Given the description of an element on the screen output the (x, y) to click on. 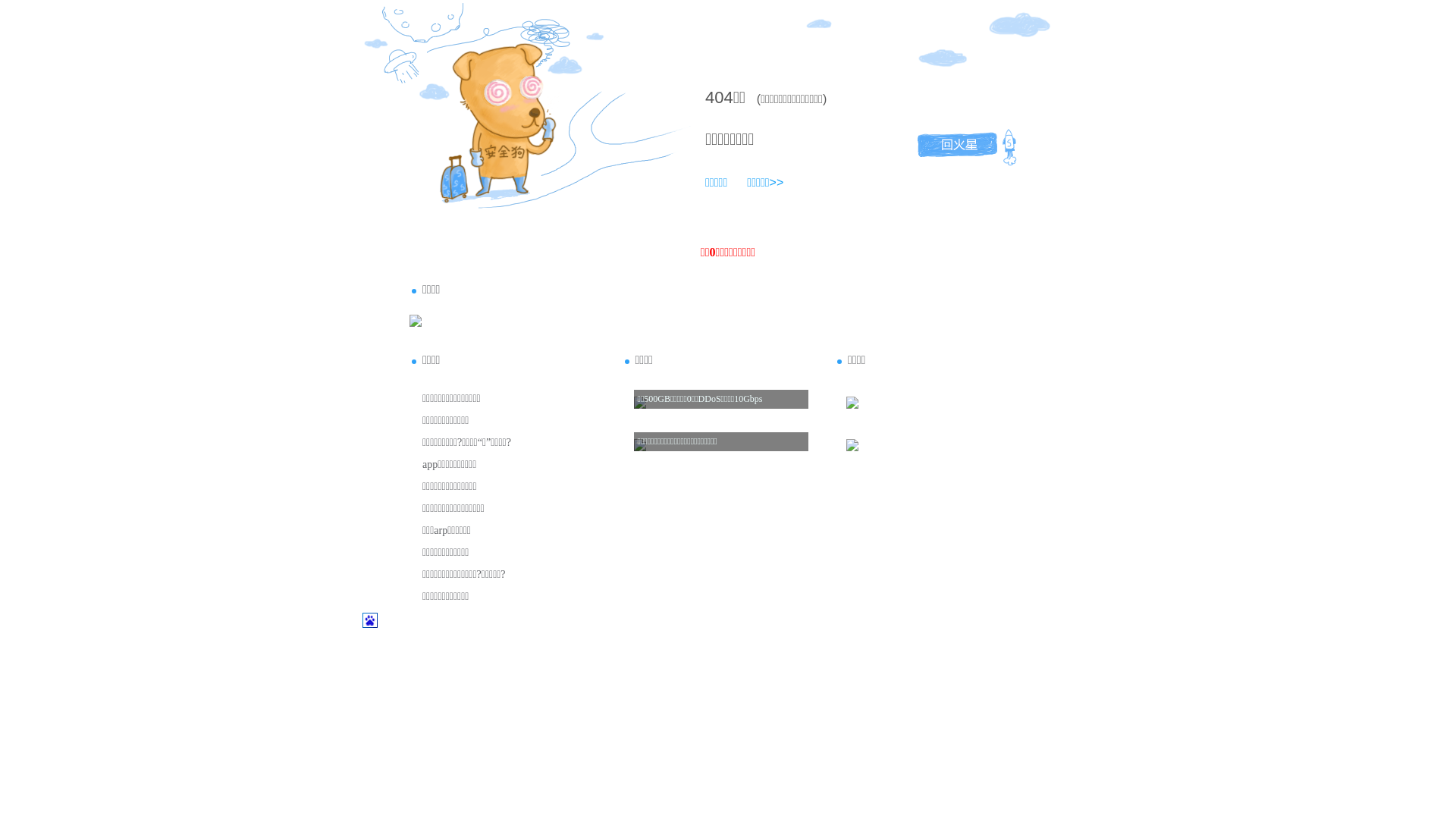
404 Element type: text (719, 96)
